Given the description of an element on the screen output the (x, y) to click on. 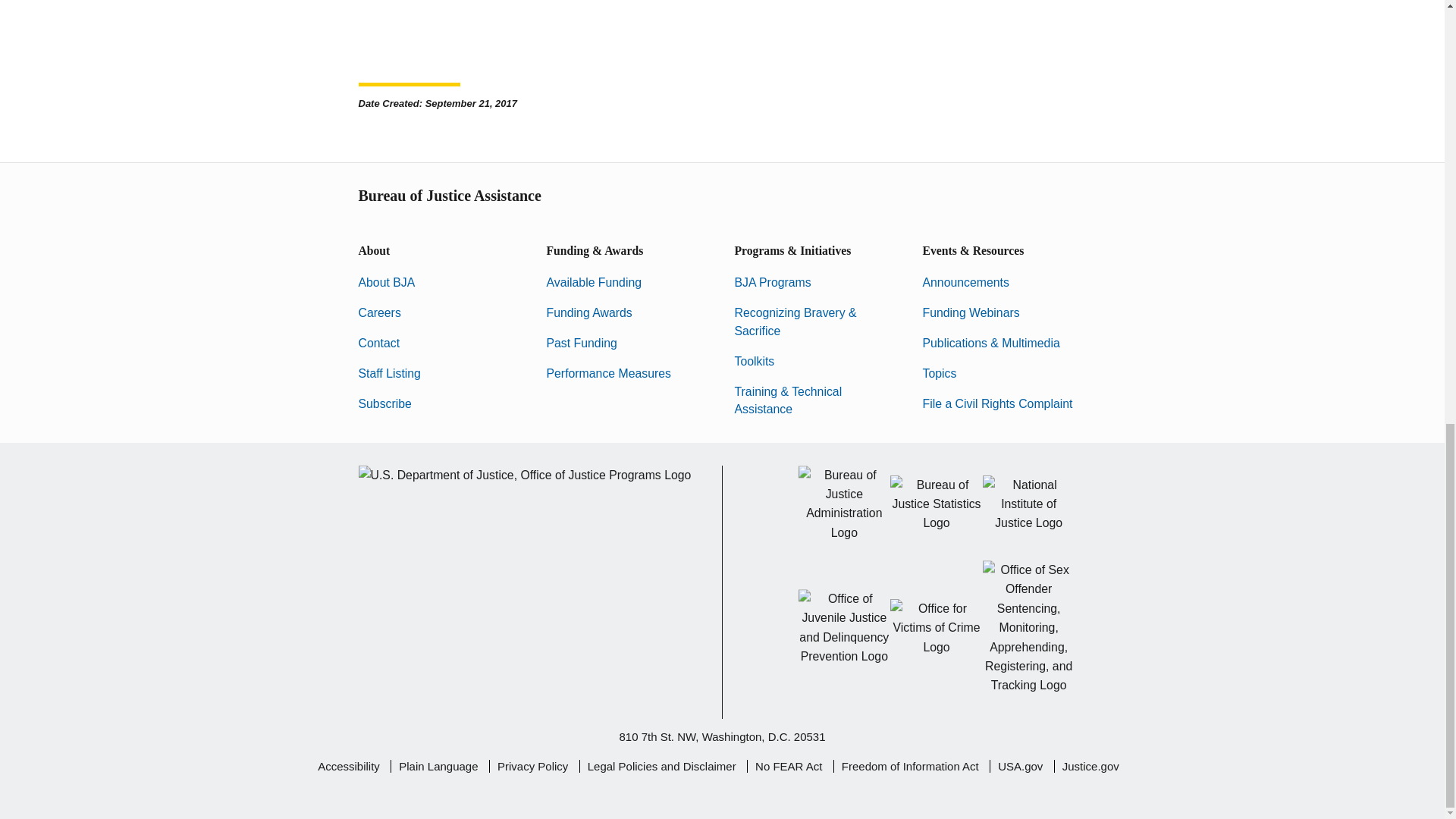
Contact (378, 342)
Available Funding (594, 282)
Past Funding (580, 342)
Staff Listing (389, 373)
Careers (379, 312)
Funding Awards (588, 312)
About BJA (386, 282)
Subscribe (384, 403)
